Given the description of an element on the screen output the (x, y) to click on. 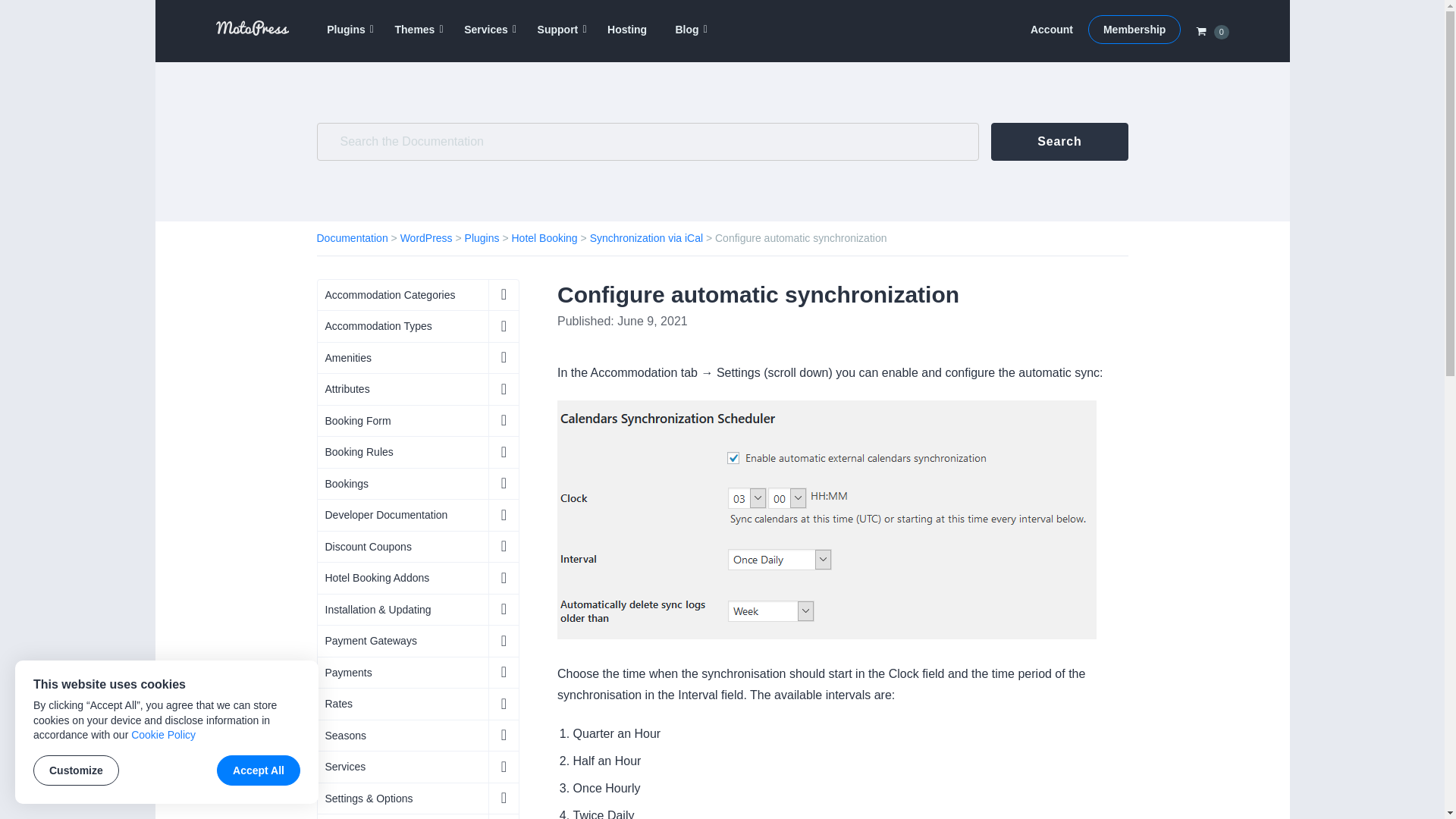
Go to the Synchronization via iCal Doc Category archives. (646, 237)
Go to the Hotel Booking Doc Category archives. (543, 237)
Go to the WordPress Doc Category archives. (426, 237)
Accommodation Categories (417, 294)
Themes (414, 29)
Amenities (417, 357)
Accommodation Types (417, 326)
WordPress Themes (414, 29)
MotoPress (244, 51)
Plugins (346, 29)
